Given the description of an element on the screen output the (x, y) to click on. 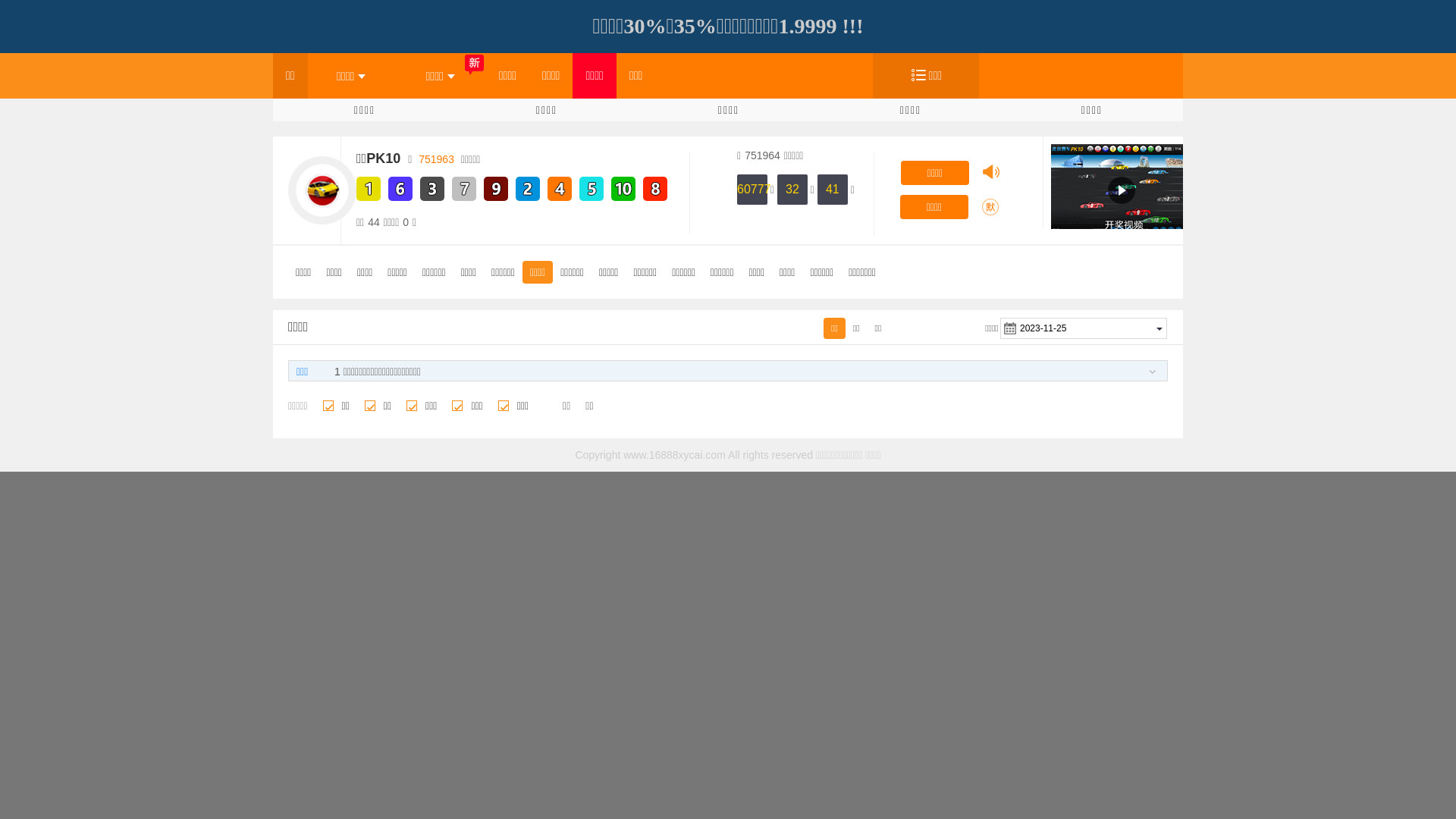
www.16888xycai.com Element type: text (674, 454)
